Given the description of an element on the screen output the (x, y) to click on. 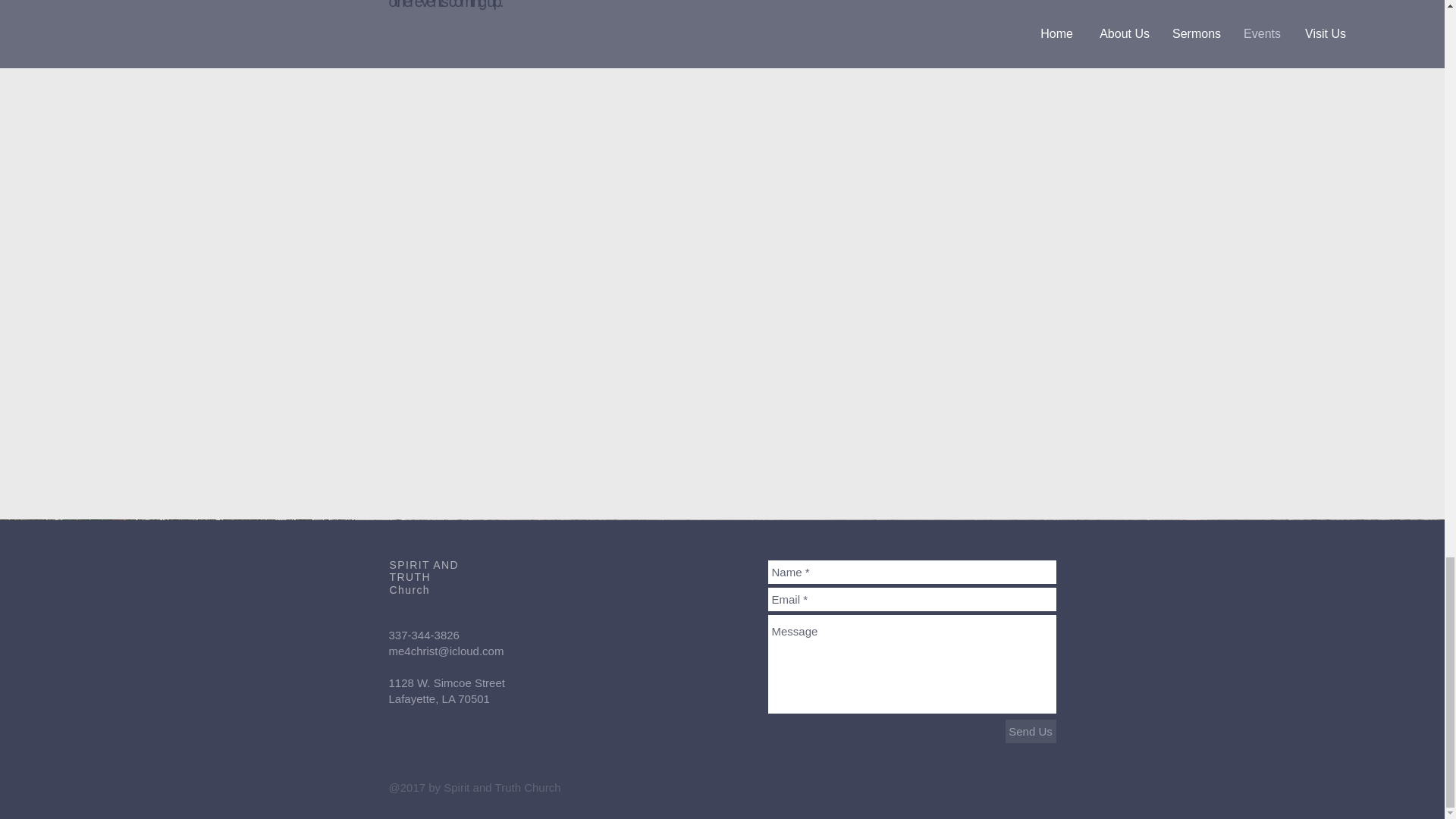
Send Us (1031, 730)
